Given the description of an element on the screen output the (x, y) to click on. 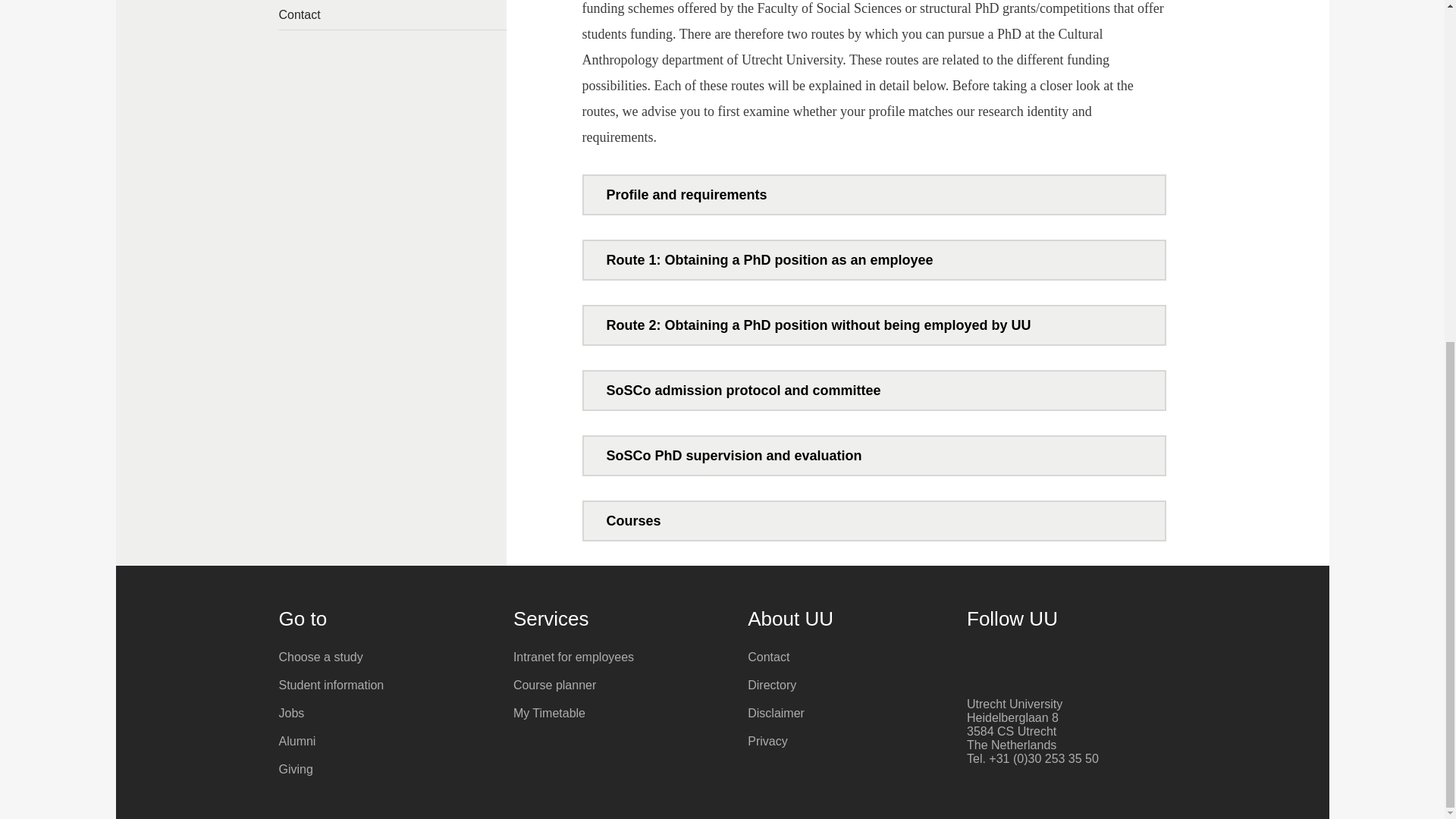
Courses (873, 520)
SoSCo admission protocol and committee (873, 390)
Route 1: Obtaining a PhD position as an employee (873, 259)
Contact (392, 14)
Profile and requirements (873, 194)
SoSCo PhD supervision and evaluation (873, 455)
